Given the description of an element on the screen output the (x, y) to click on. 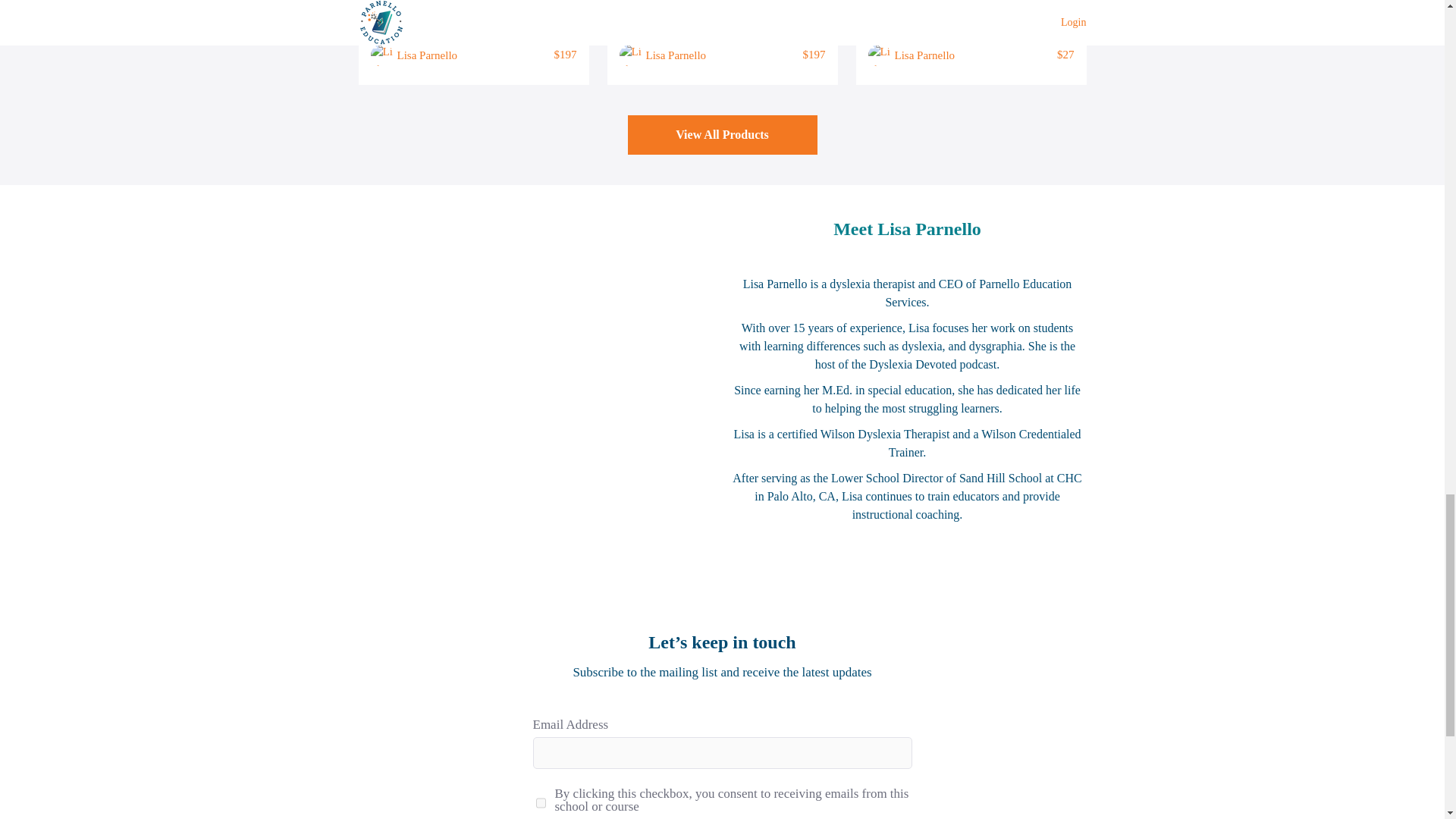
Lisa Parnello (925, 55)
View All Products (721, 135)
Lisa Parnello (676, 55)
View All Products (721, 134)
Lisa Parnello (427, 55)
